Given the description of an element on the screen output the (x, y) to click on. 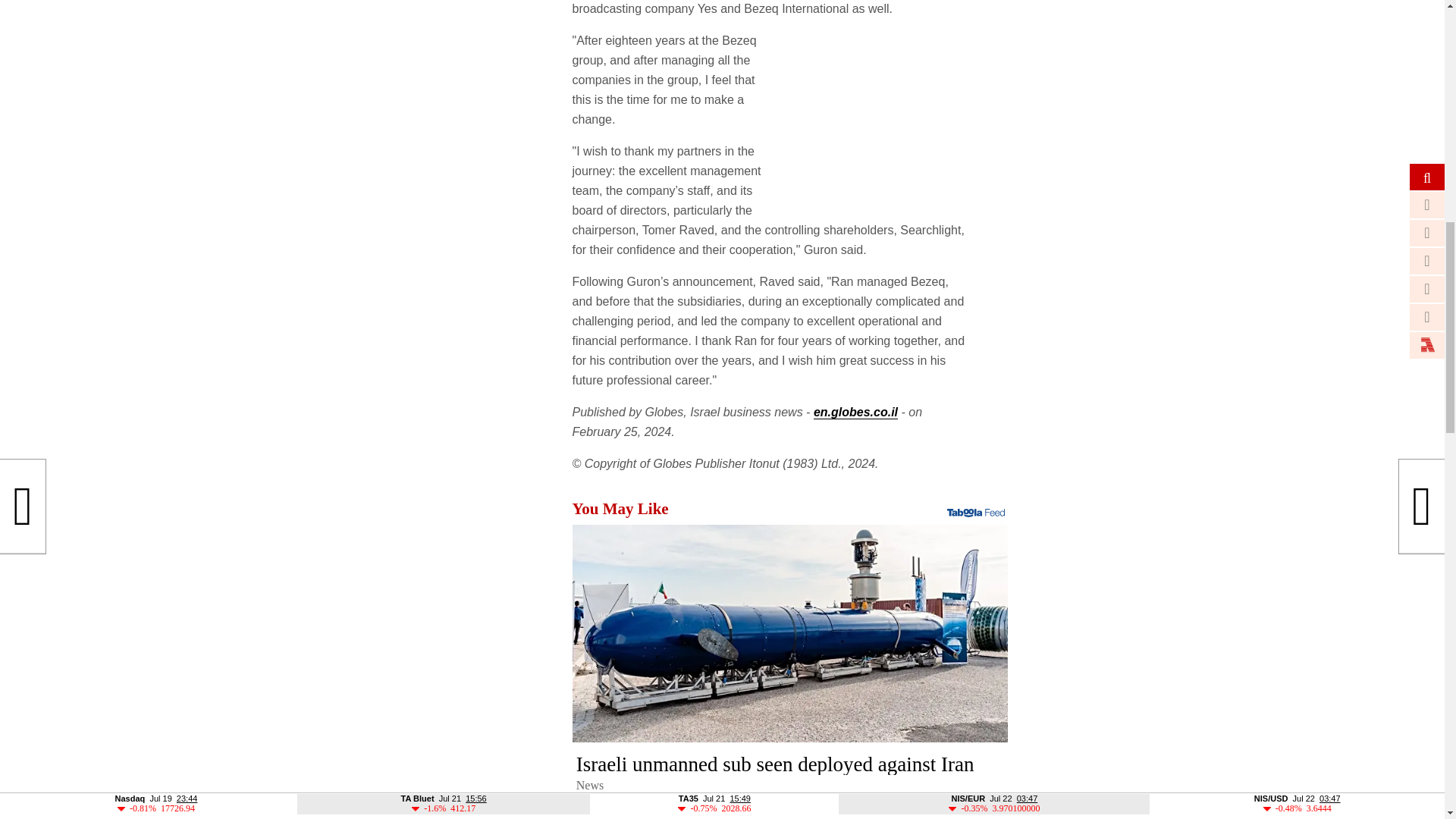
Israeli unmanned sub seen deployed against Iran (790, 772)
3rd party ad content (894, 125)
Israeli unmanned sub seen deployed against Iran (790, 633)
